Given the description of an element on the screen output the (x, y) to click on. 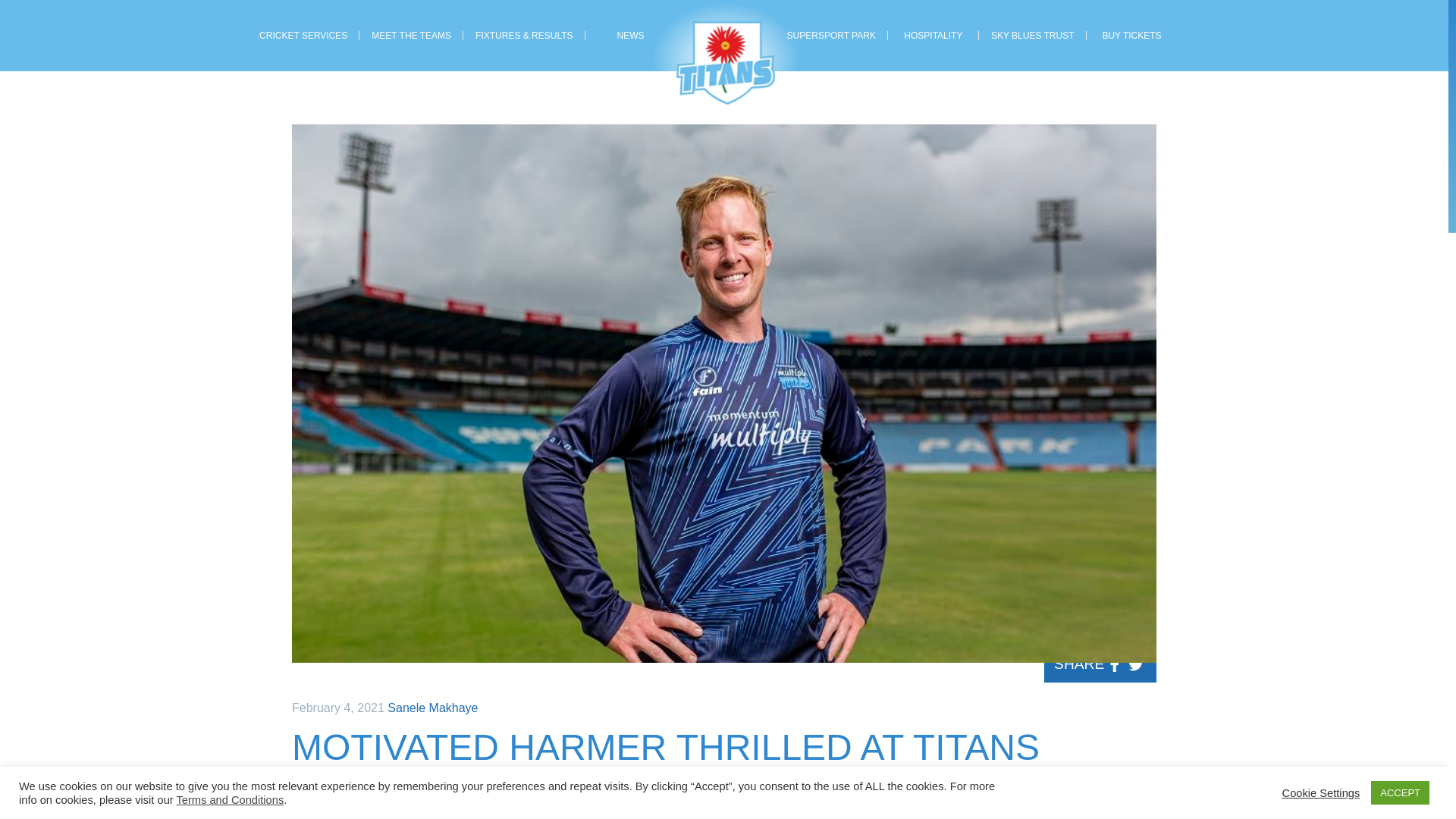
HOSPITALITY (932, 35)
NEWS (630, 35)
MEET THE TEAMS (411, 35)
SUPERSPORT PARK (831, 35)
BUY TICKETS (1131, 35)
Sanele Makhaye (432, 707)
SKY BLUES TRUST (1032, 35)
CRICKET SERVICES (303, 35)
